Given the description of an element on the screen output the (x, y) to click on. 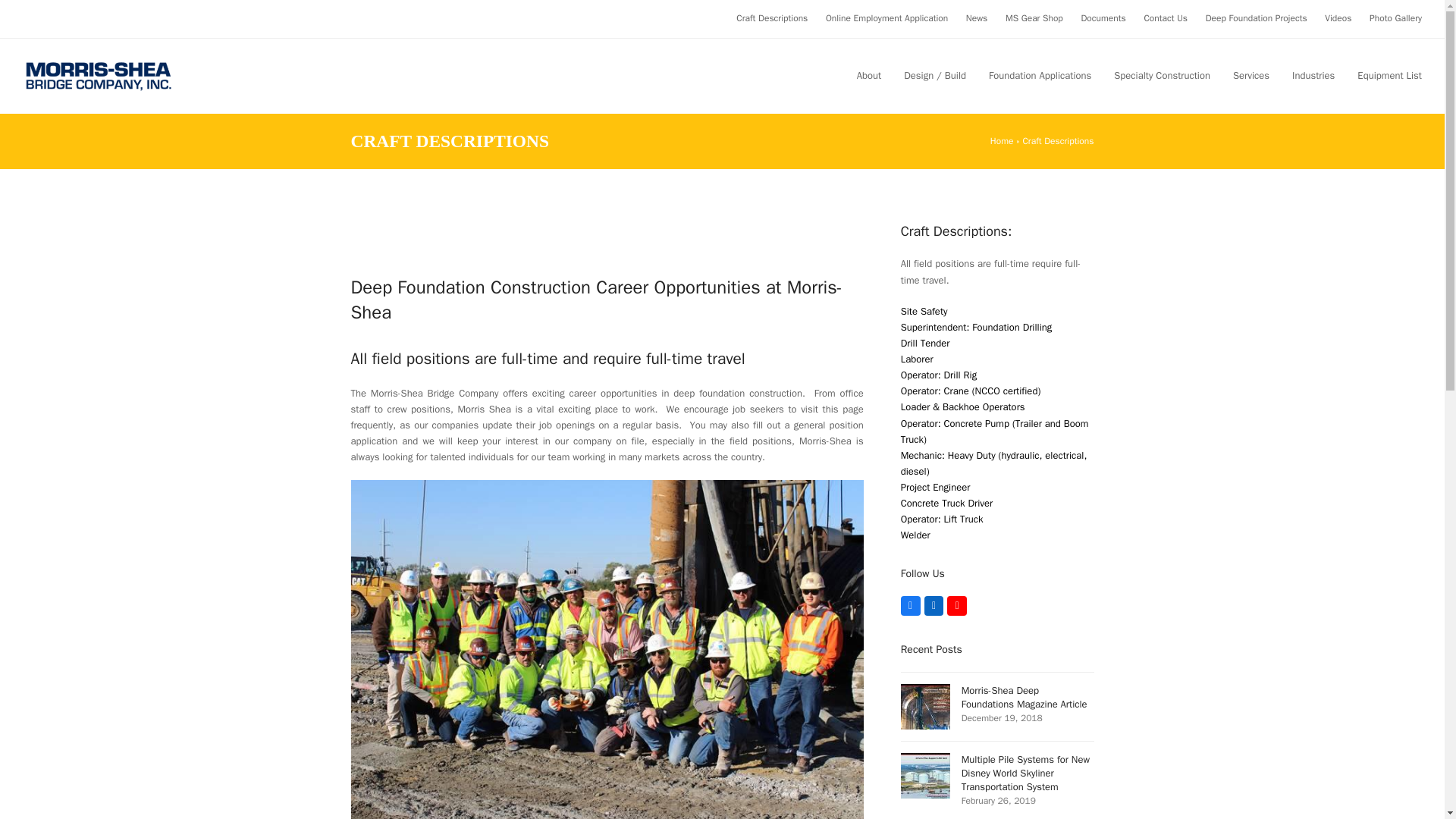
Contact Us (1165, 18)
Facebook (910, 605)
Foundation Applications (1039, 75)
Specialty Construction (1161, 75)
Online Employment Application (886, 18)
News (977, 18)
LinkedIn (933, 605)
Documents (1102, 18)
MS Gear Shop (1034, 18)
Deep Foundation Projects (1256, 18)
